Given the description of an element on the screen output the (x, y) to click on. 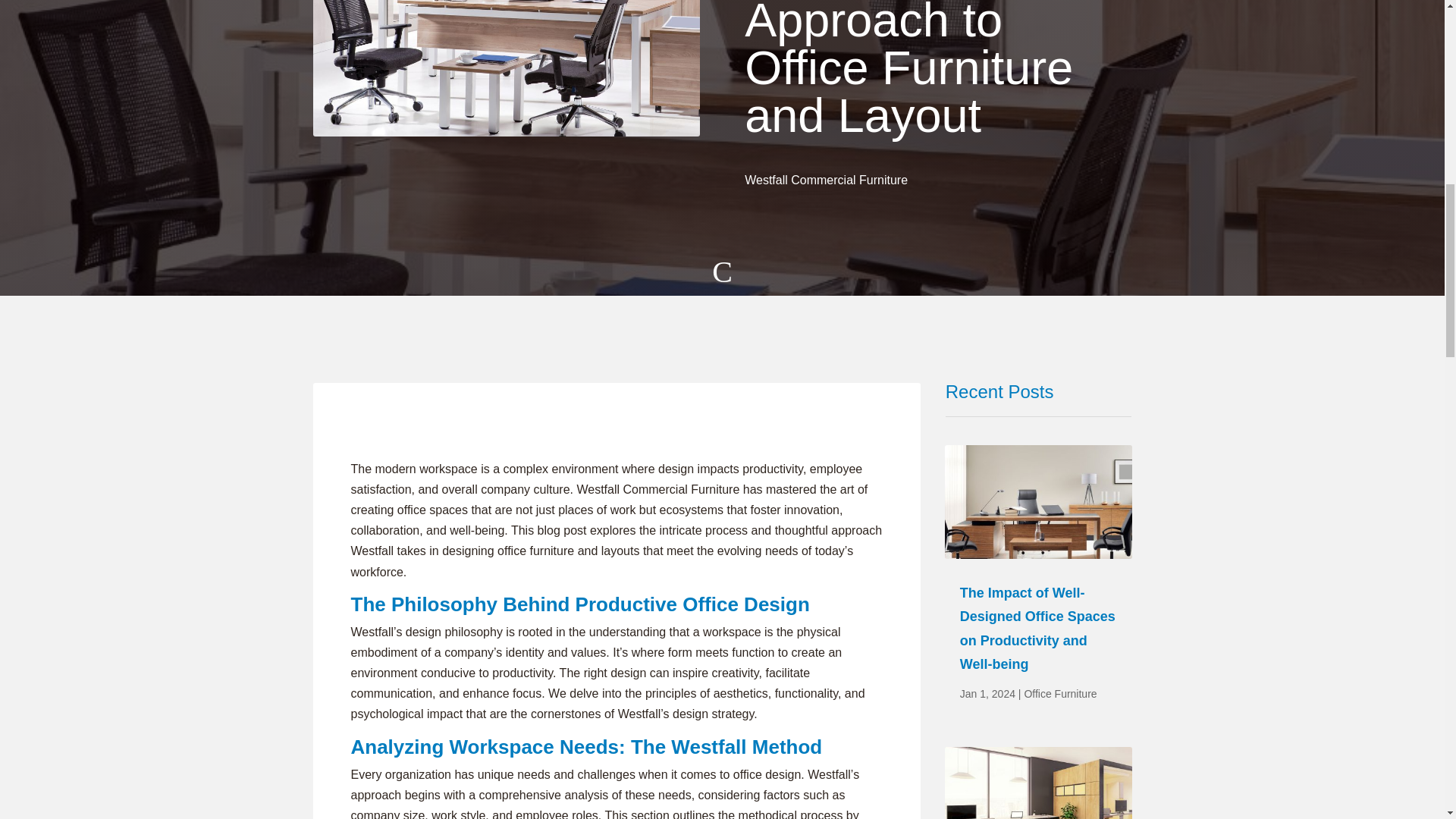
Office Furniture (1059, 693)
C (721, 277)
